Given the description of an element on the screen output the (x, y) to click on. 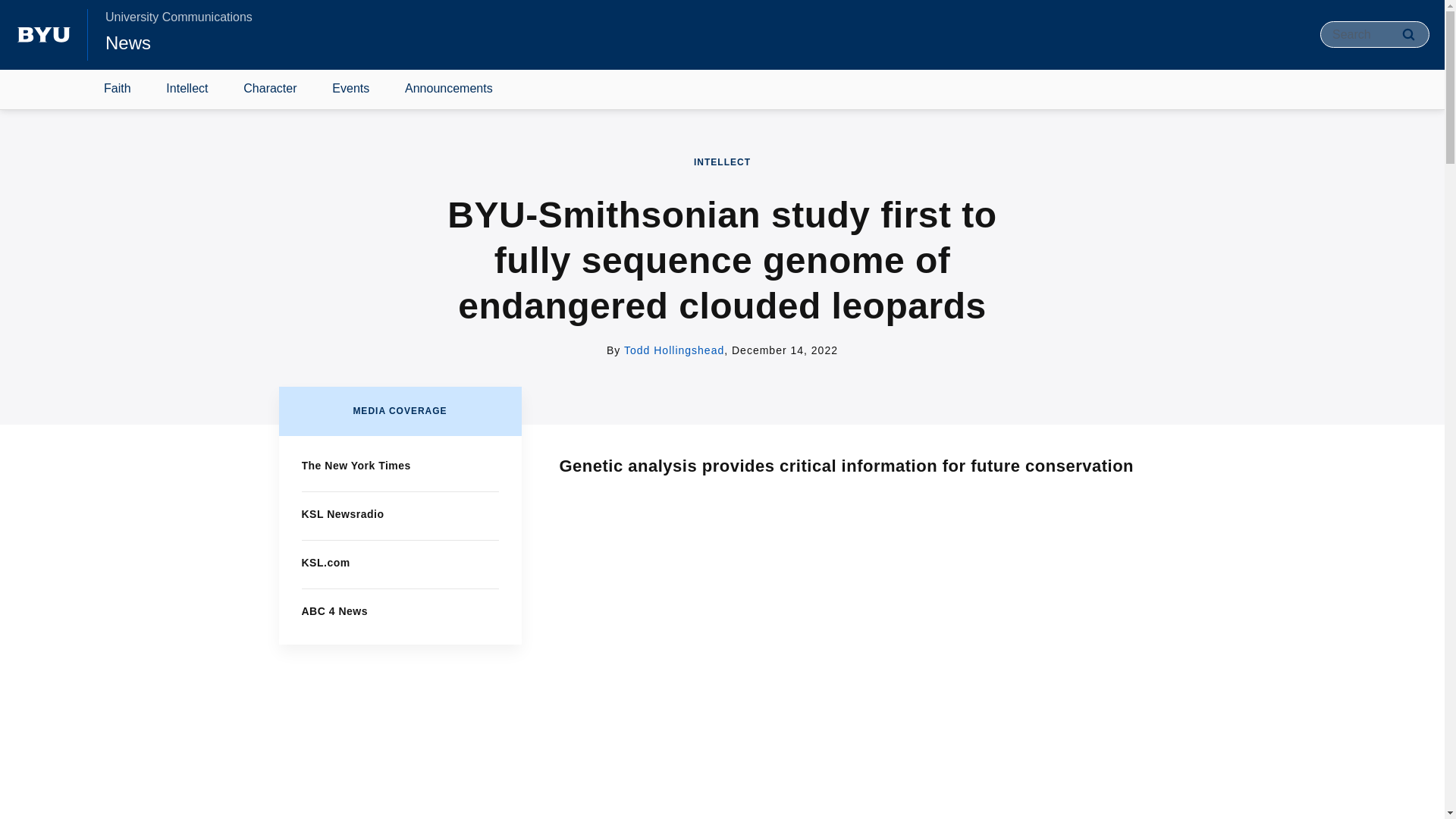
Intellect (186, 89)
Events (350, 89)
University Communications (177, 16)
INTELLECT (722, 162)
Todd Hollingshead (673, 349)
The New York Times (355, 465)
Announcements (448, 89)
News (127, 42)
KSL Newsradio (342, 513)
Character (270, 89)
Faith (117, 89)
KSL.com (325, 562)
ABC 4 News (334, 611)
Search (1408, 34)
